Given the description of an element on the screen output the (x, y) to click on. 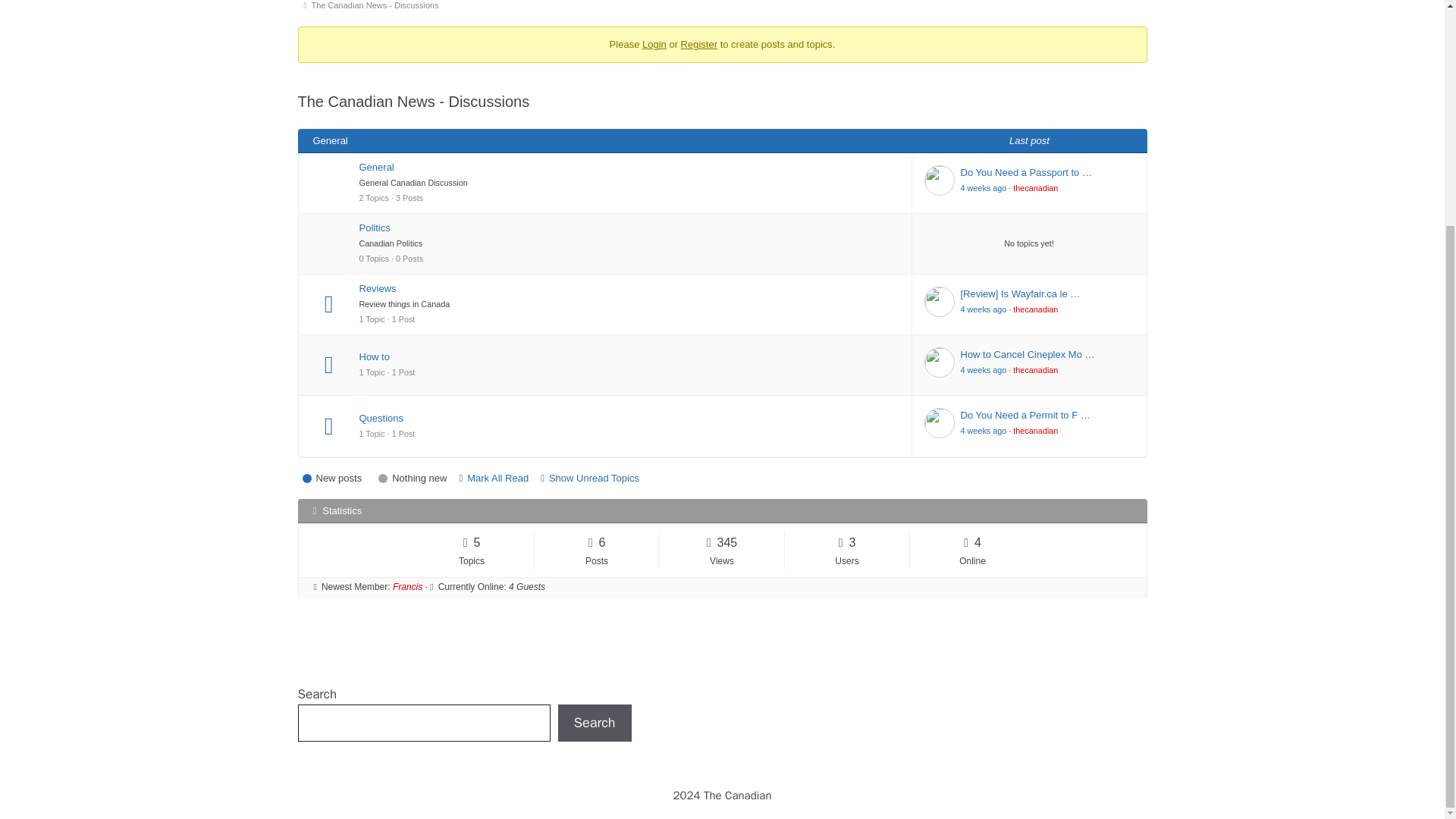
The Canadian News - Discussions (377, 7)
Login (654, 43)
Reviews (629, 288)
General (629, 167)
Register (699, 43)
The Canadian News - Discussions (377, 7)
thecanadian (1035, 308)
thecanadian (1035, 187)
How to (629, 356)
Politics (629, 227)
